Given the description of an element on the screen output the (x, y) to click on. 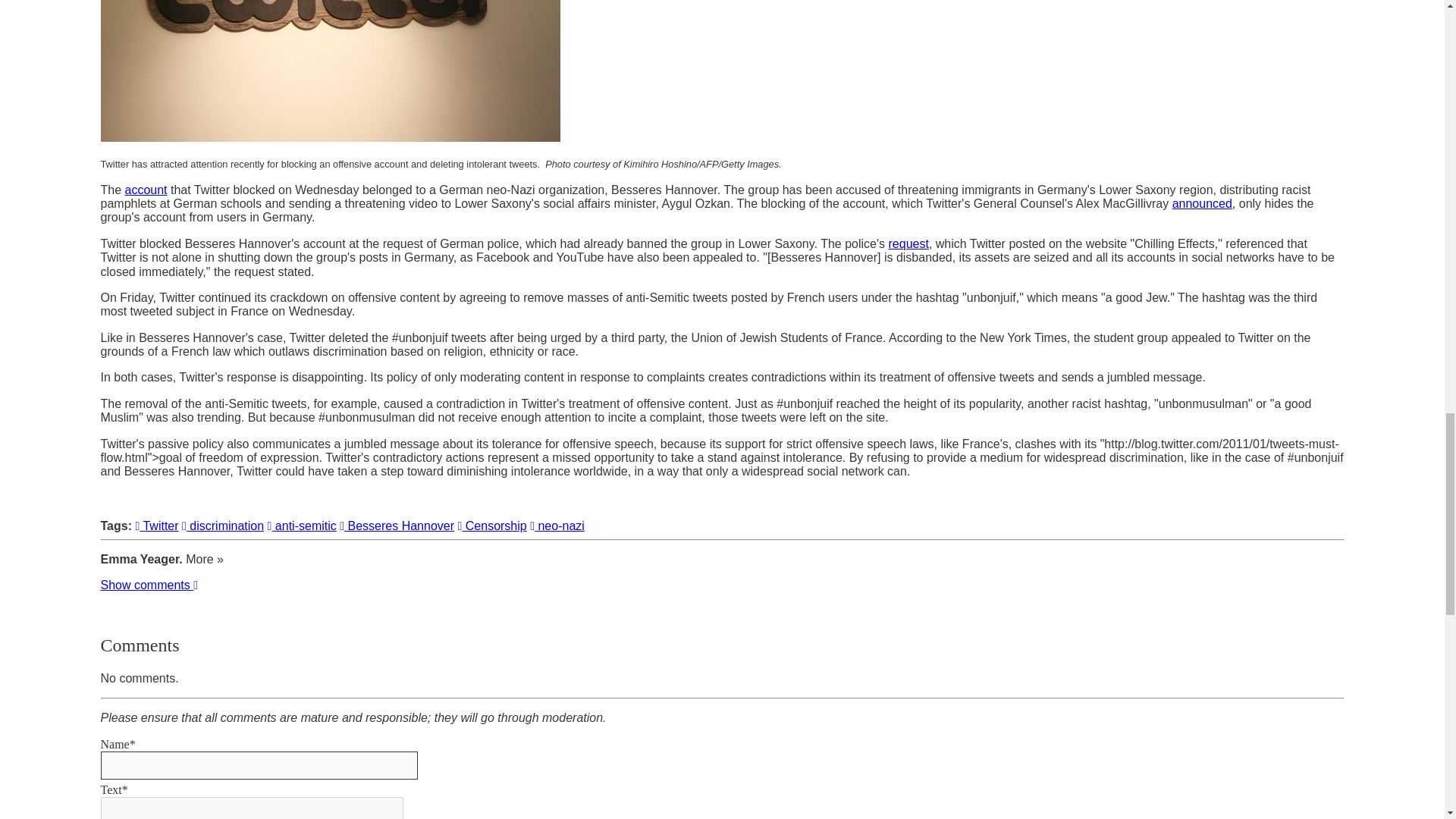
Censorship (492, 525)
announced (1201, 203)
neo-nazi (557, 525)
Besseres Hannover (396, 525)
anti-semitic (301, 525)
discrimination (222, 525)
request (908, 243)
account (146, 189)
Show comments (149, 584)
Twitter (156, 525)
